Given the description of an element on the screen output the (x, y) to click on. 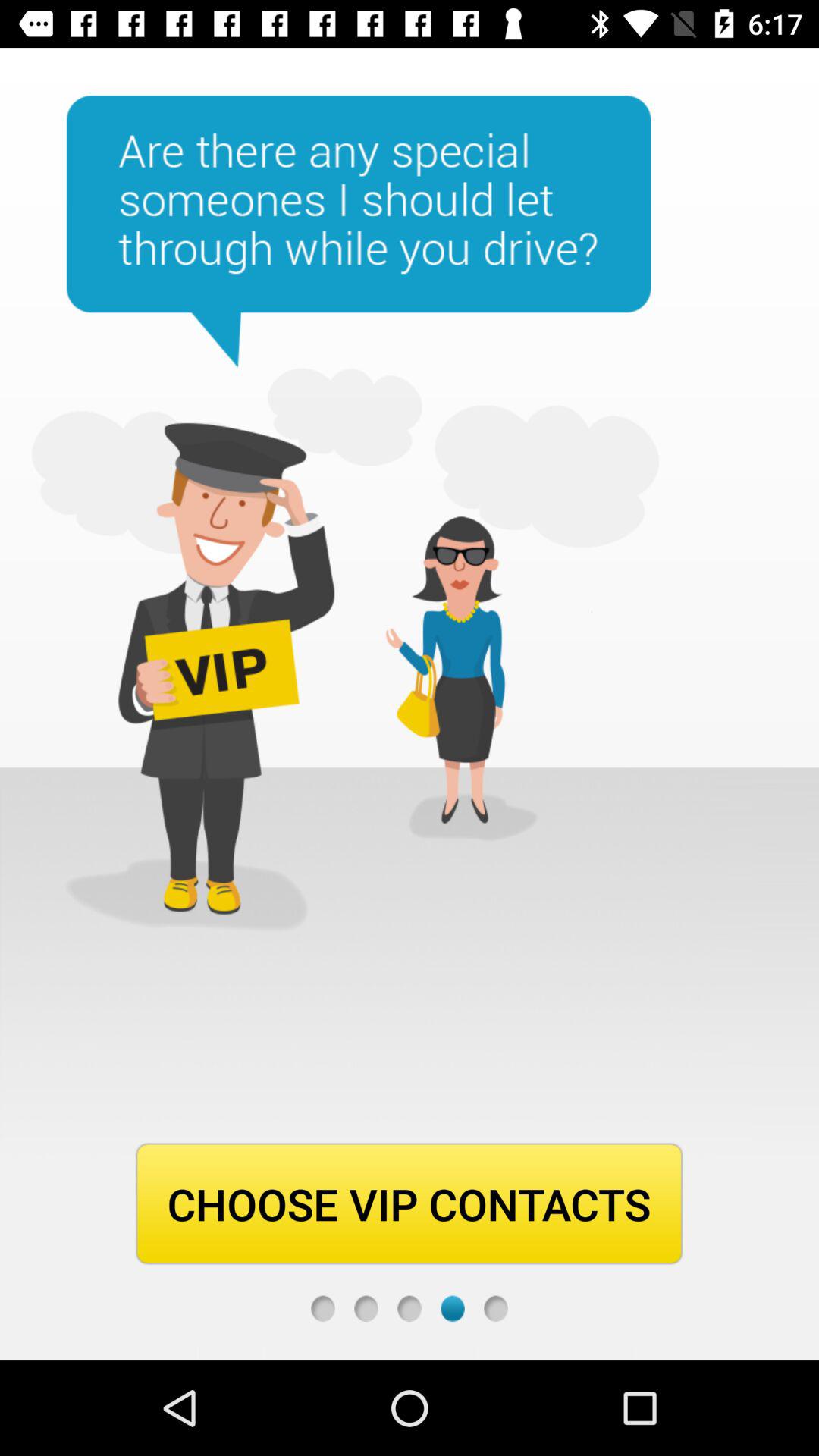
go to next page (495, 1308)
